Given the description of an element on the screen output the (x, y) to click on. 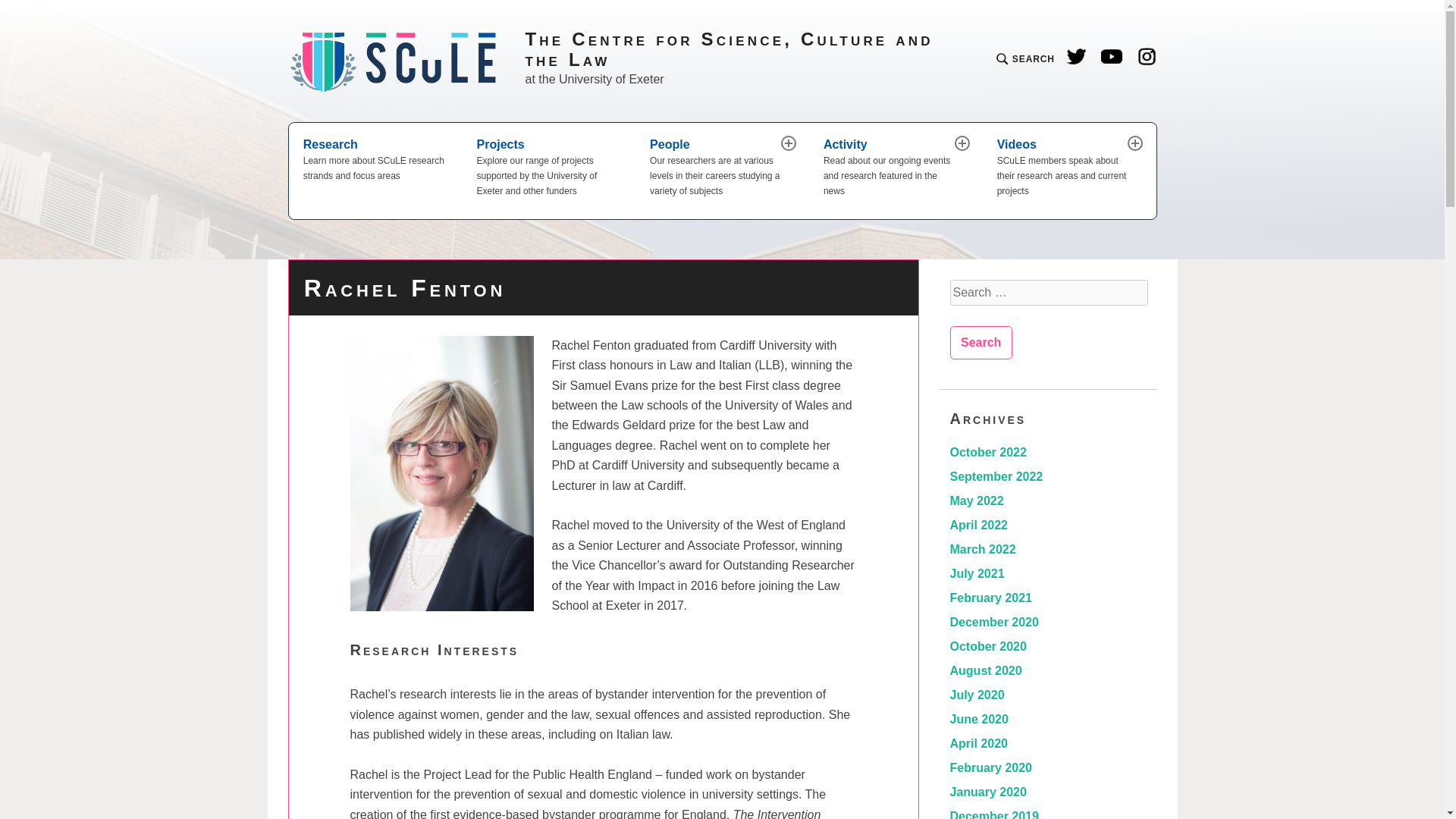
expand child menu (962, 142)
SEARCH (1024, 61)
The Centre for Science, Culture and the Law (743, 48)
Search (980, 342)
Search (340, 142)
expand child menu (1134, 142)
Search (980, 342)
expand child menu (788, 142)
